Given the description of an element on the screen output the (x, y) to click on. 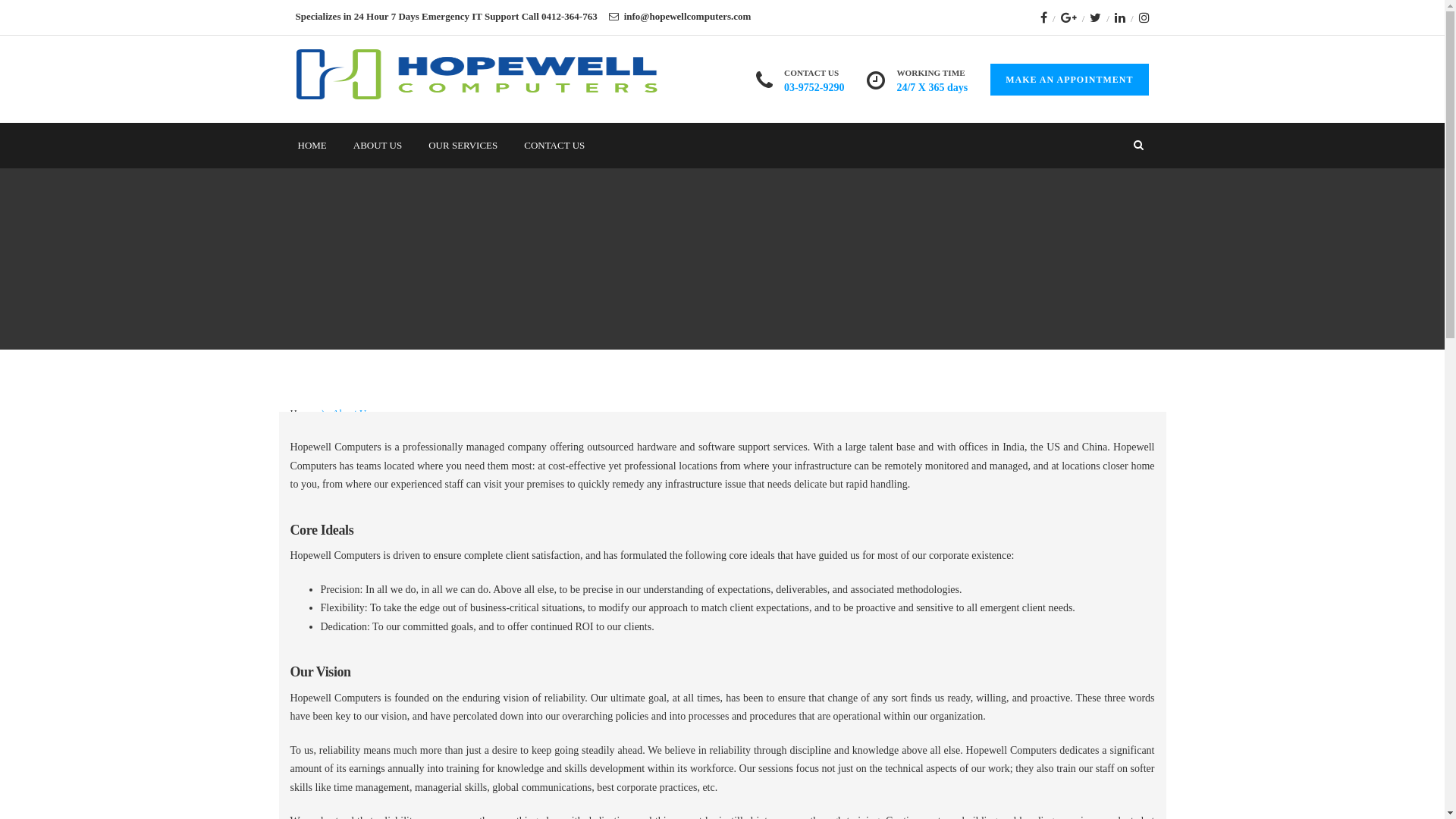
Home Element type: text (301, 412)
LinkedIn Element type: hover (1119, 17)
Google+ Element type: hover (1068, 17)
Instagram Element type: hover (1143, 17)
MAKE AN APPOINTMENT Element type: text (1069, 79)
Twitter Element type: hover (1095, 17)
Facebook Element type: hover (1043, 17)
info@hopewellcomputers.com Element type: text (687, 15)
ABOUT US Element type: text (377, 145)
CONTACT US Element type: text (554, 145)
OUR SERVICES Element type: text (462, 145)
HOME Element type: text (311, 145)
